Given the description of an element on the screen output the (x, y) to click on. 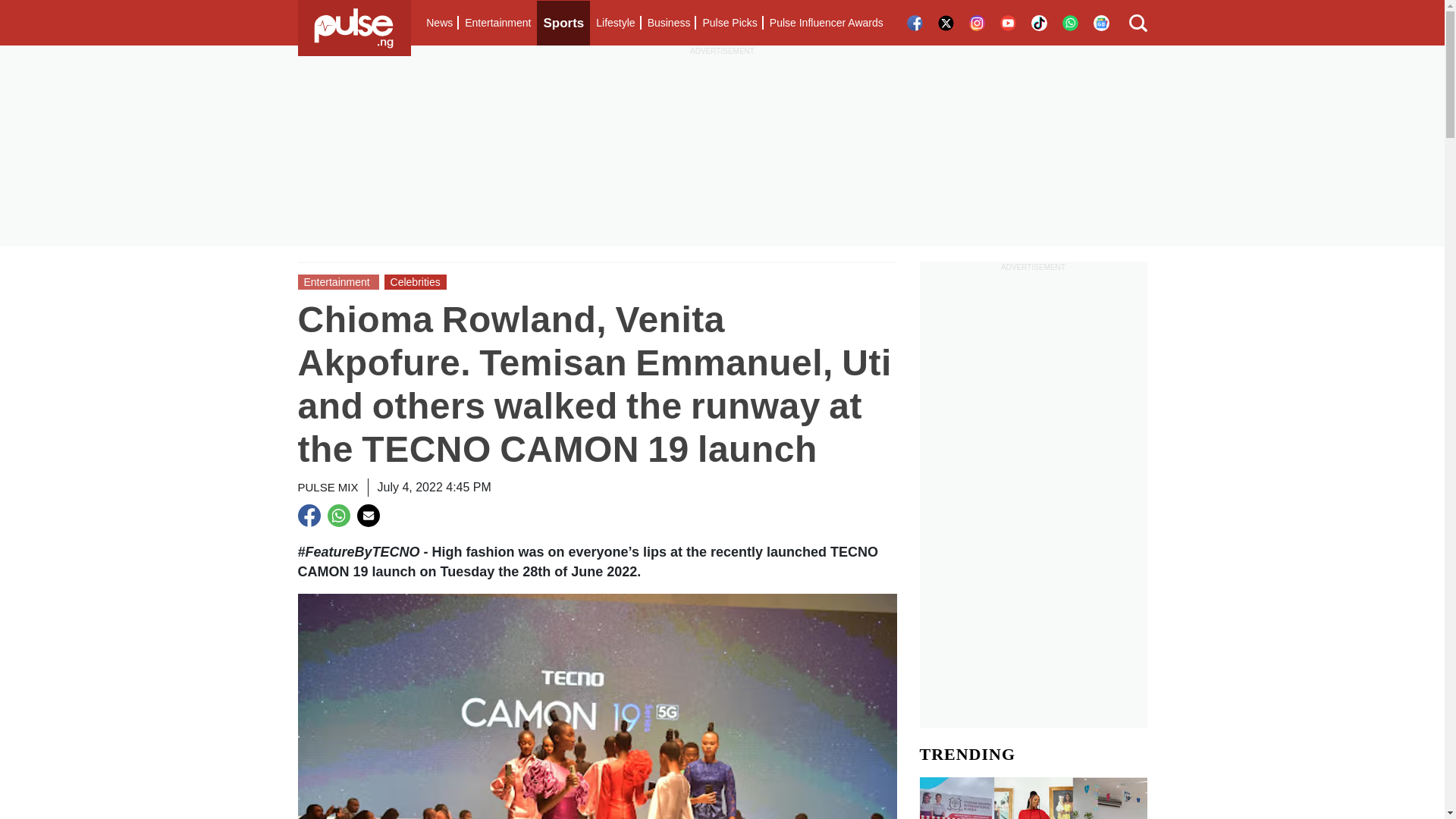
Entertainment (497, 22)
Business (669, 22)
Sports (563, 22)
Lifestyle (614, 22)
